Given the description of an element on the screen output the (x, y) to click on. 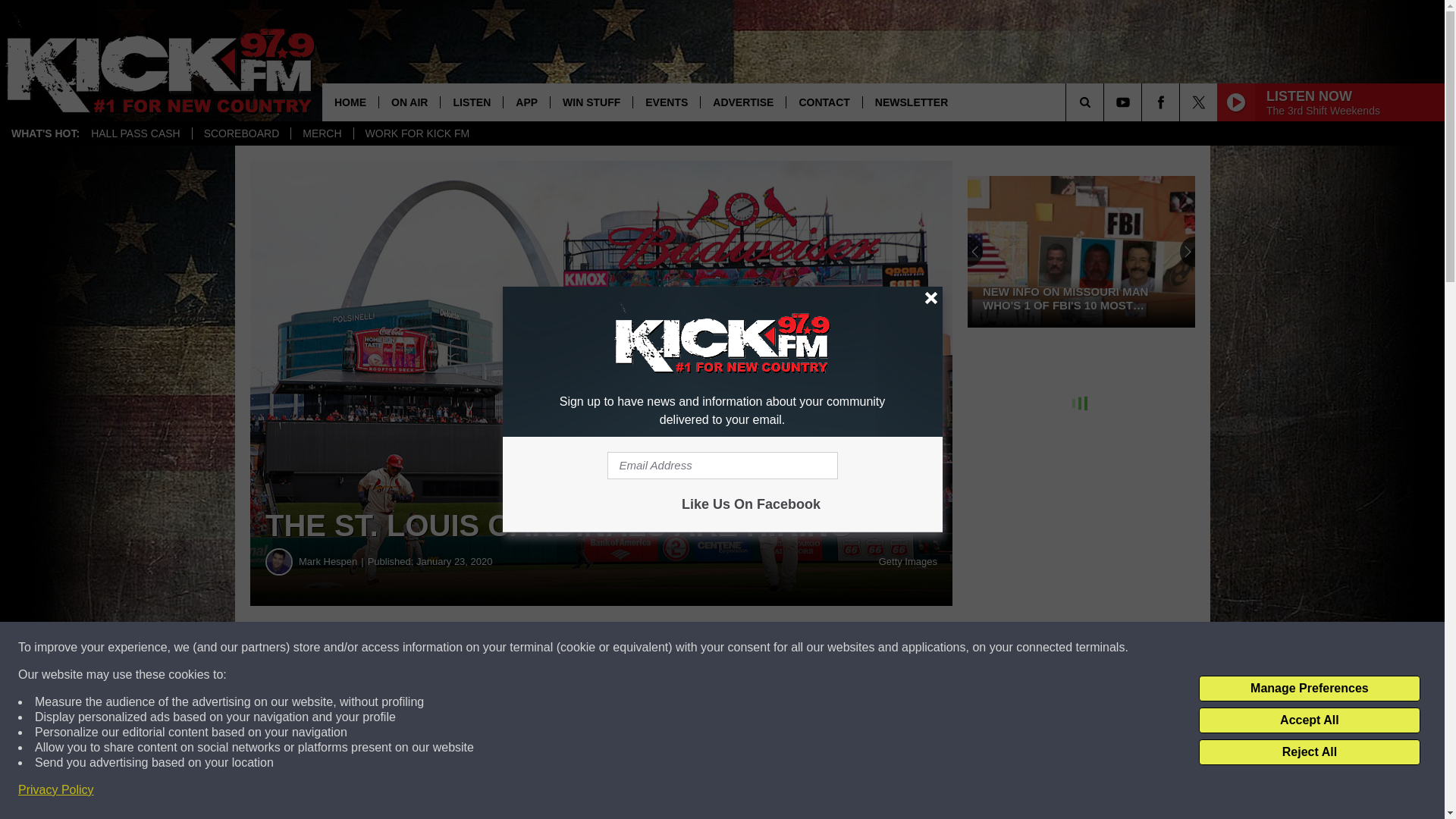
SEARCH (1106, 102)
WIN STUFF (590, 102)
WORK FOR KICK FM (417, 133)
Accept All (1309, 720)
Privacy Policy (55, 789)
Manage Preferences (1309, 688)
SEARCH (1106, 102)
Email Address (722, 465)
HALL PASS CASH (136, 133)
LISTEN (470, 102)
ON AIR (408, 102)
Reject All (1309, 751)
HOME (349, 102)
EVENTS (665, 102)
SCOREBOARD (241, 133)
